Given the description of an element on the screen output the (x, y) to click on. 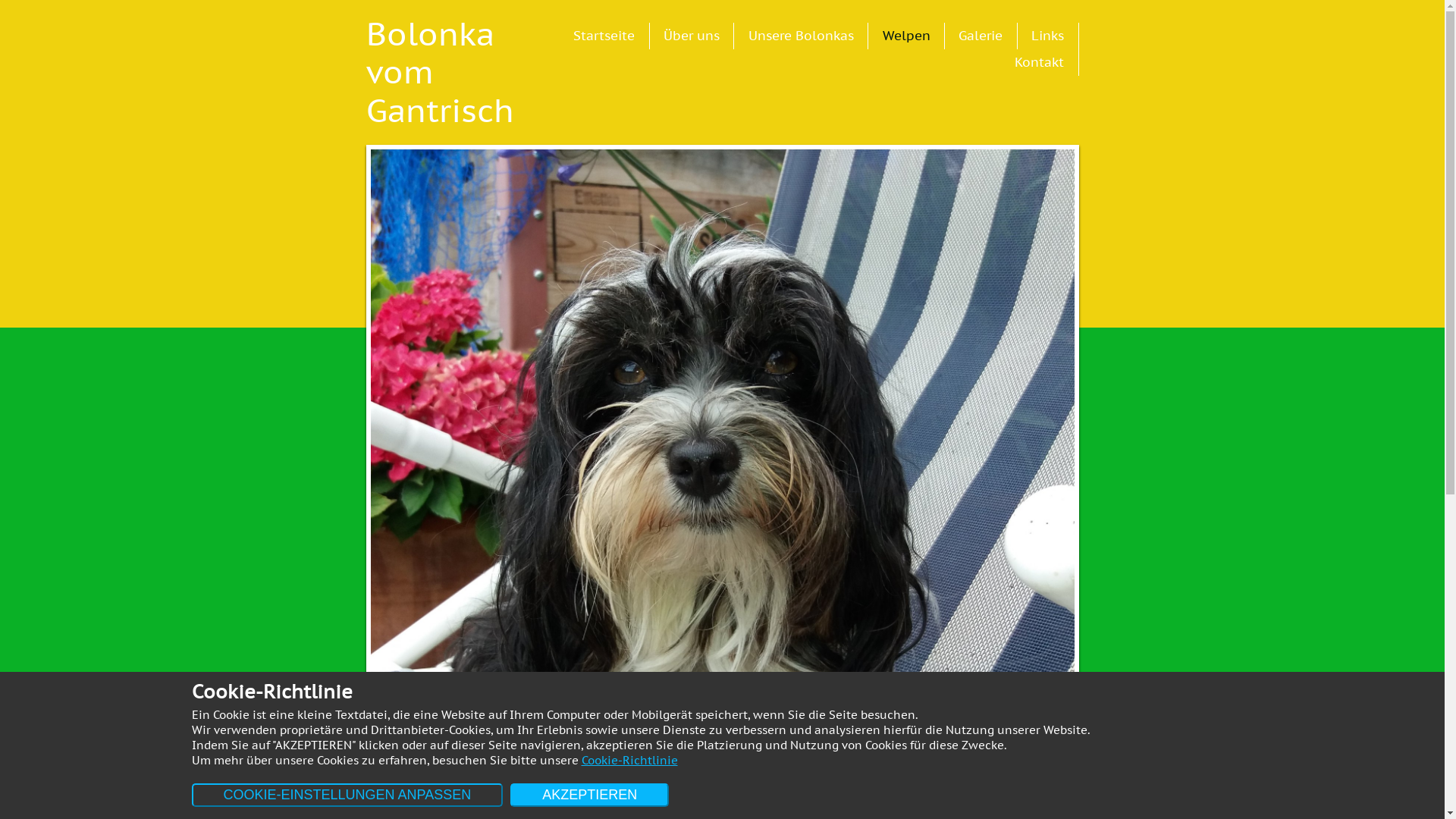
Bolonka vom Gantrisch Element type: text (425, 72)
Galerie Element type: text (980, 35)
Startseite Element type: text (603, 35)
Links Element type: text (1047, 35)
Kontakt Element type: text (1039, 62)
Welpen Element type: text (906, 35)
COOKIE-EINSTELLUNGEN ANPASSEN Element type: text (346, 794)
Cookie-Richtlinie Element type: text (628, 760)
Unsere Bolonkas Element type: text (800, 35)
AKZEPTIEREN Element type: text (589, 794)
